Given the description of an element on the screen output the (x, y) to click on. 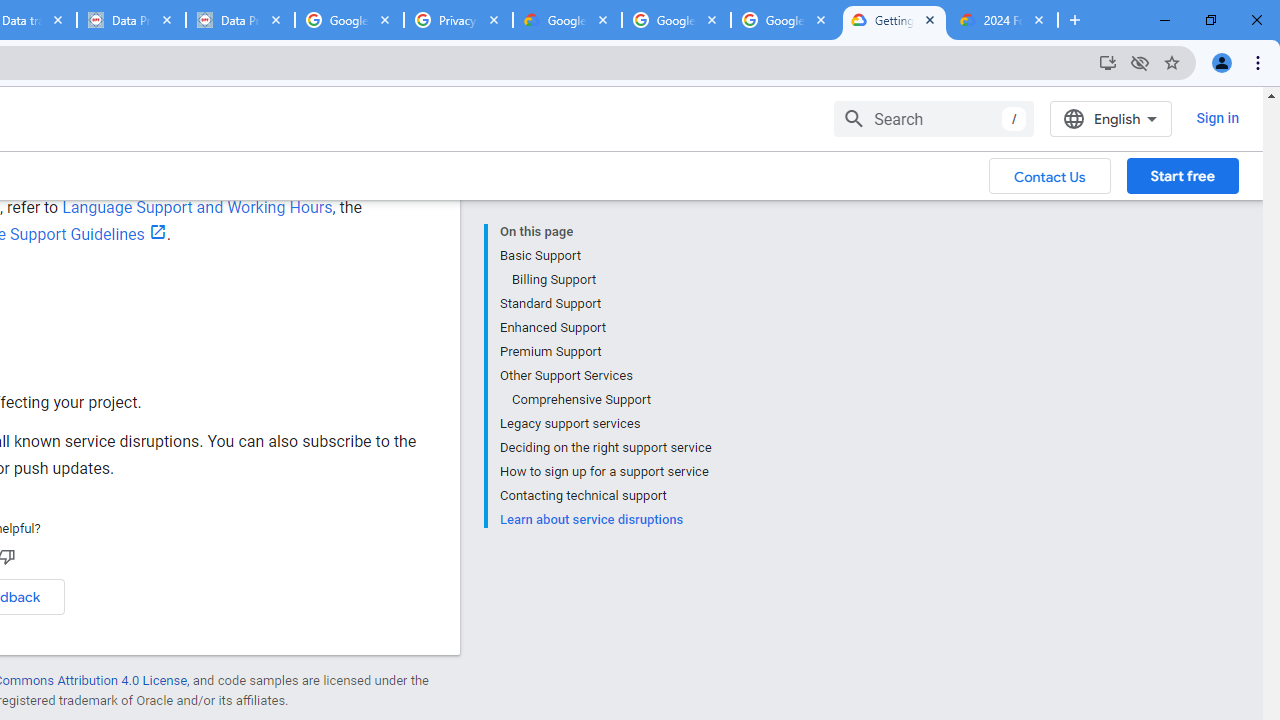
Google Workspace - Specific Terms (676, 20)
Enhanced Support (605, 327)
Standard Support (605, 304)
Start free (1182, 175)
Comprehensive Support (610, 399)
Billing Support (610, 279)
Google Cloud Terms Directory | Google Cloud (567, 20)
Premium Support (605, 351)
